Given the description of an element on the screen output the (x, y) to click on. 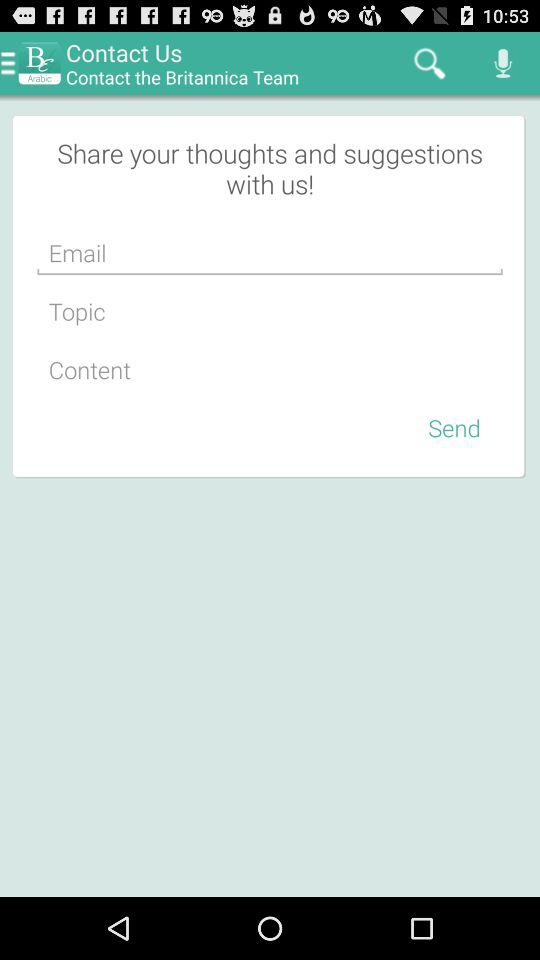
enter email address (270, 253)
